Given the description of an element on the screen output the (x, y) to click on. 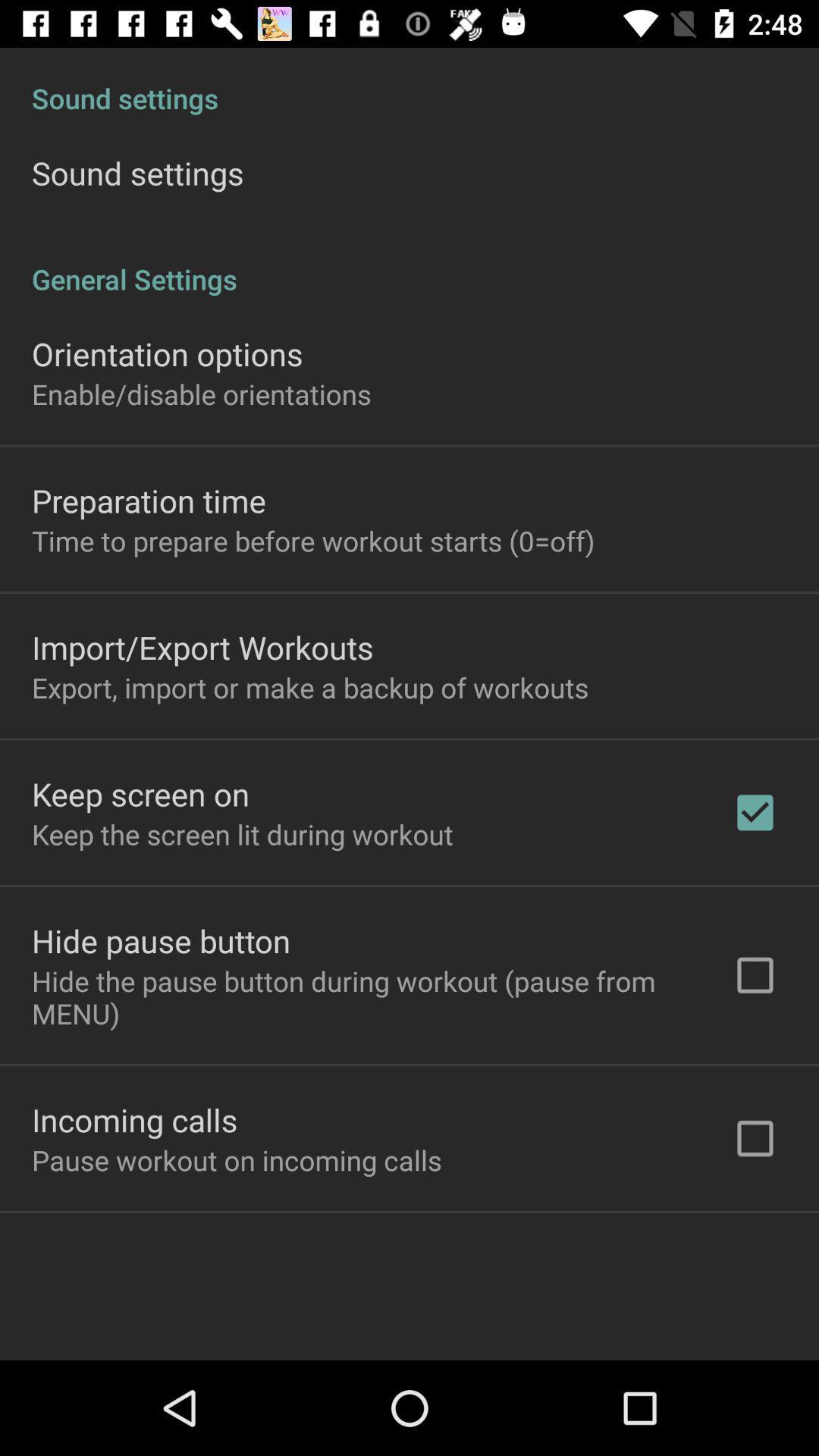
launch orientation options item (167, 353)
